Given the description of an element on the screen output the (x, y) to click on. 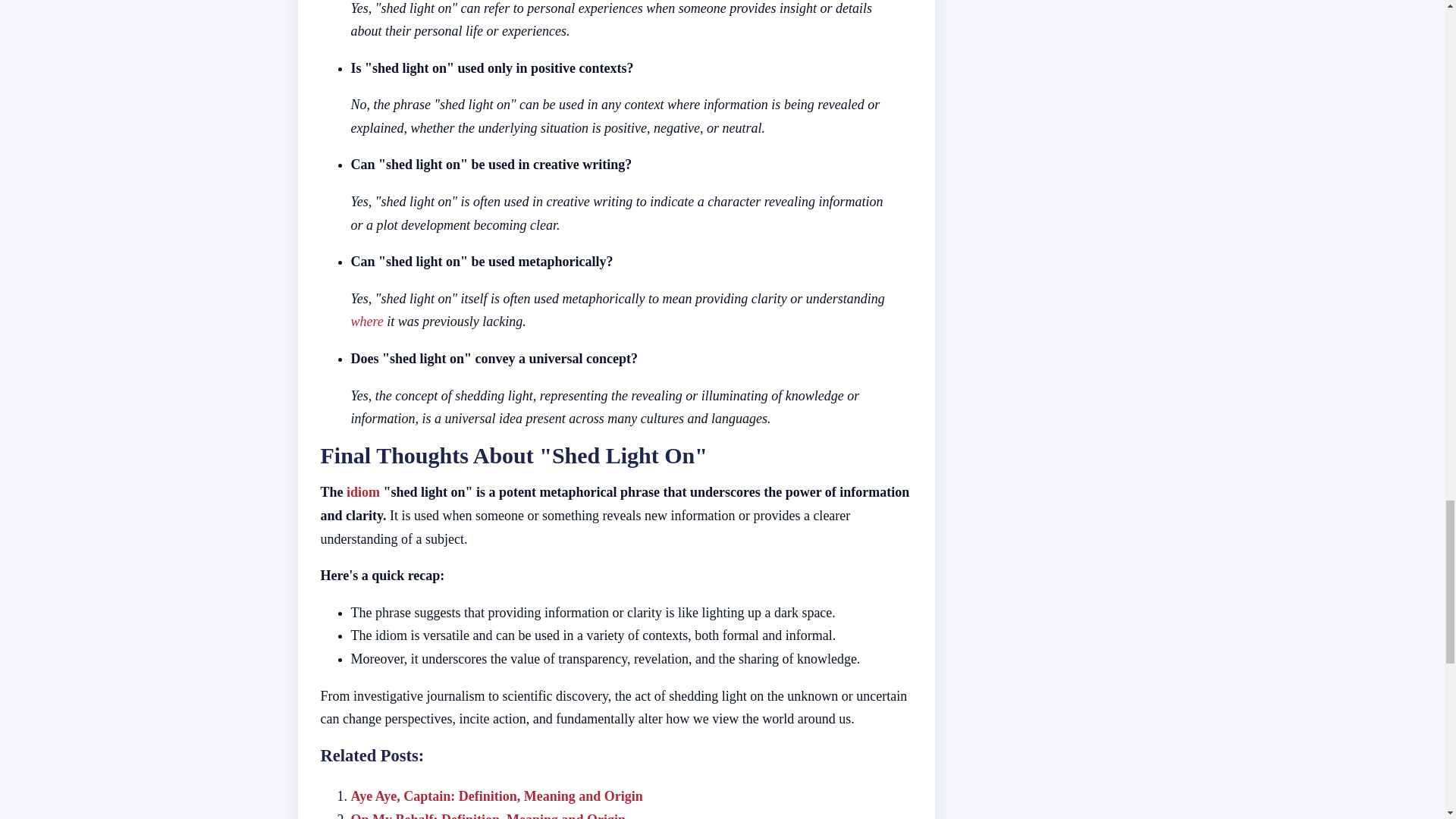
idiom (363, 491)
where (366, 321)
Aye Aye, Captain: Definition, Meaning and Origin (496, 795)
On My Behalf: Definition, Meaning and Origin (488, 815)
Aye Aye, Captain: Definition, Meaning and Origin (496, 795)
On My Behalf: Definition, Meaning and Origin (488, 815)
